Given the description of an element on the screen output the (x, y) to click on. 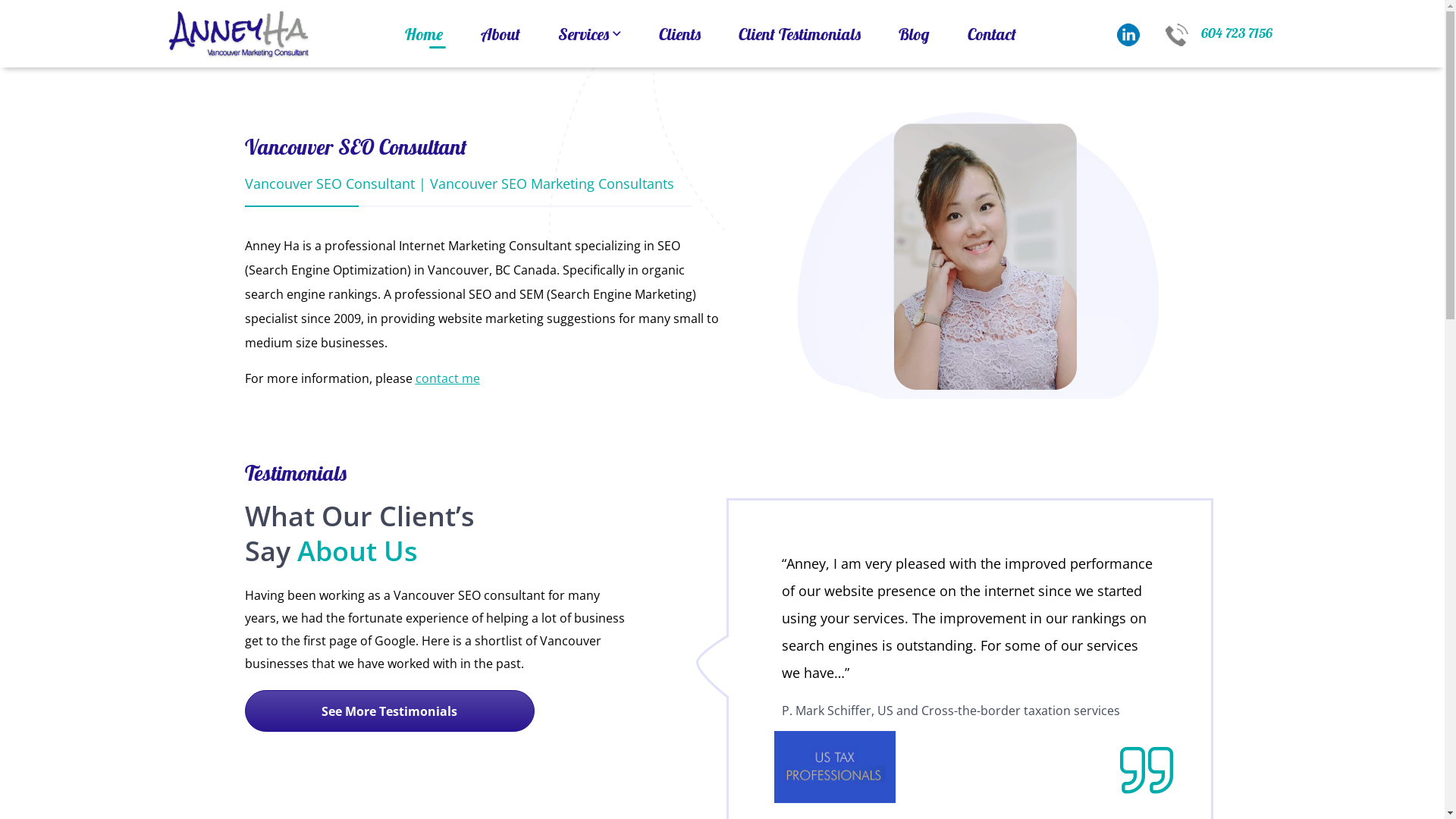
ustax Element type: hover (834, 766)
Clients Element type: text (679, 33)
Vancouver SEO Marketing Consultants Element type: text (551, 183)
See More Testimonials Element type: text (388, 710)
604 723 7156 Element type: text (1211, 32)
Home Element type: text (423, 33)
Services Element type: text (588, 33)
contact me Element type: text (447, 378)
Vancouver SEO Consultant Element type: text (330, 183)
Blog Element type: text (913, 33)
Anney Ha Element type: hover (239, 33)
Client Testimonials Element type: text (798, 33)
Contact Element type: text (990, 33)
About Element type: text (499, 33)
